Given the description of an element on the screen output the (x, y) to click on. 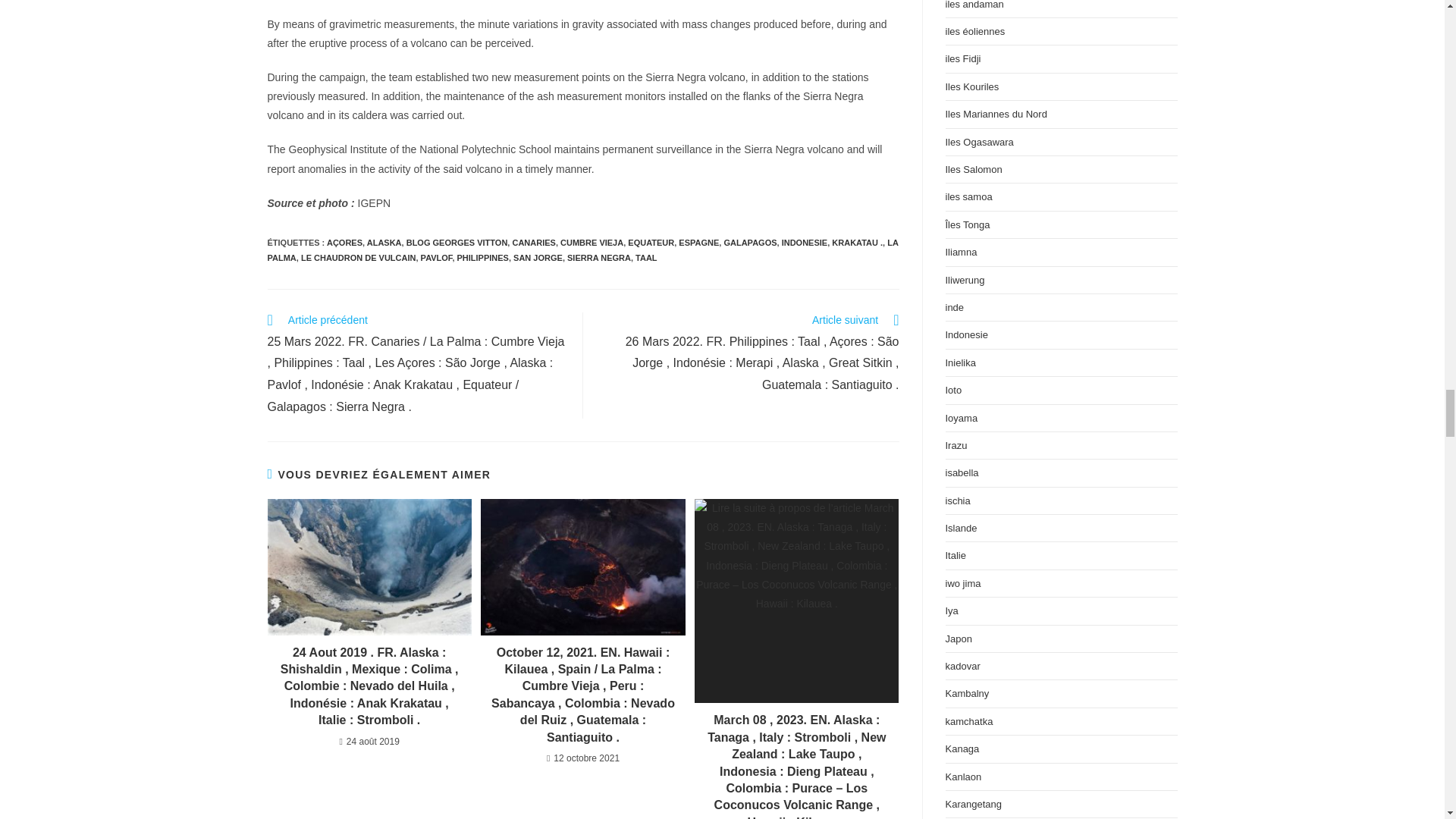
ALASKA (383, 242)
CUMBRE VIEJA (591, 242)
BLOG GEORGES VITTON (457, 242)
CANARIES (533, 242)
